Given the description of an element on the screen output the (x, y) to click on. 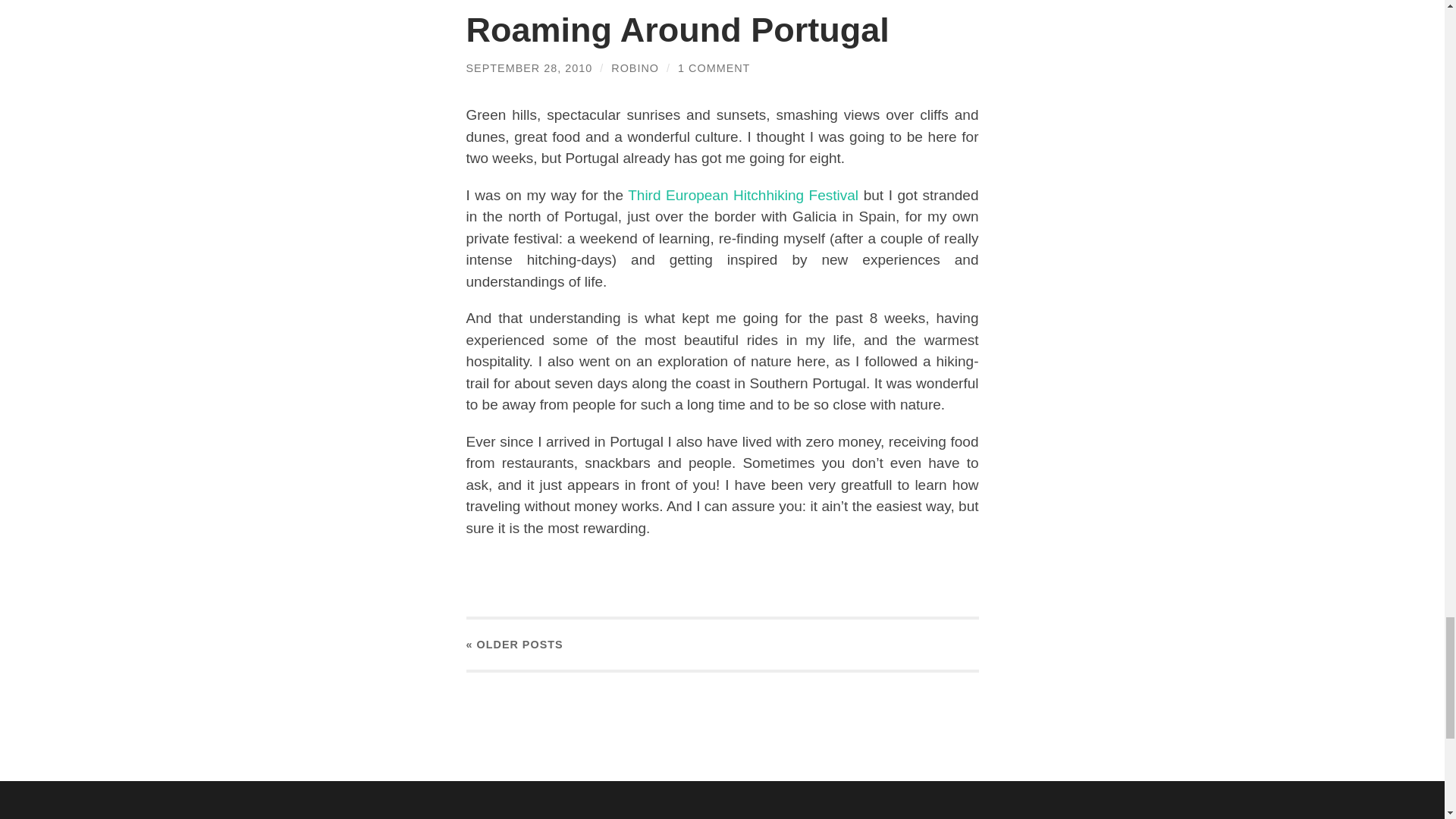
Posts by robino (635, 68)
SEPTEMBER 28, 2010 (528, 68)
Roaming Around Portugal (676, 29)
